Given the description of an element on the screen output the (x, y) to click on. 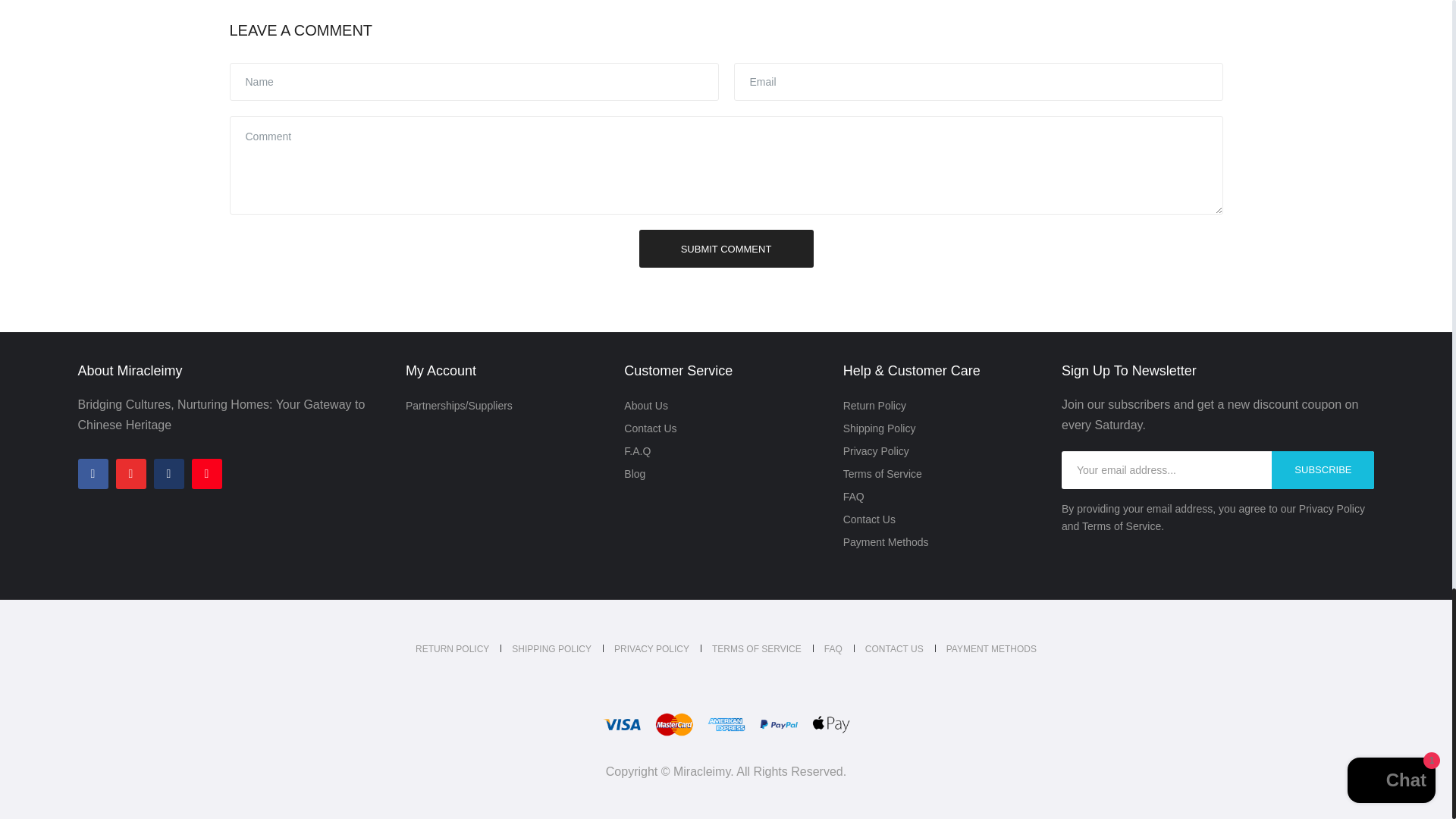
Facebook (92, 473)
